Given the description of an element on the screen output the (x, y) to click on. 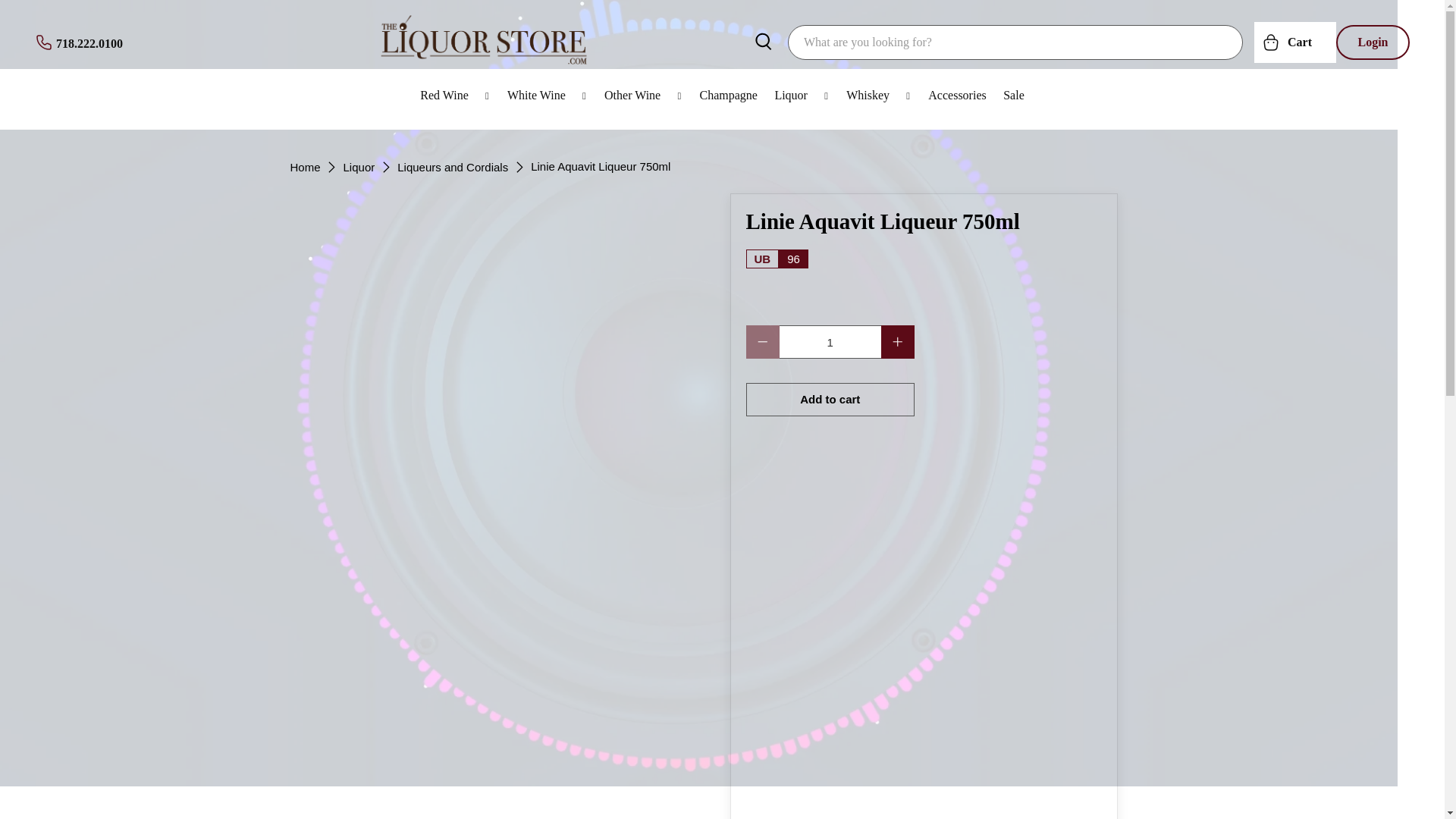
White Wine (547, 95)
Other Wine (642, 95)
Red Wine (455, 95)
Login (1372, 41)
Champagne (727, 95)
1 (830, 341)
Liquor (801, 95)
718.222.0100 (78, 42)
Cart (1294, 42)
TheLiquorStore.com (304, 165)
